Given the description of an element on the screen output the (x, y) to click on. 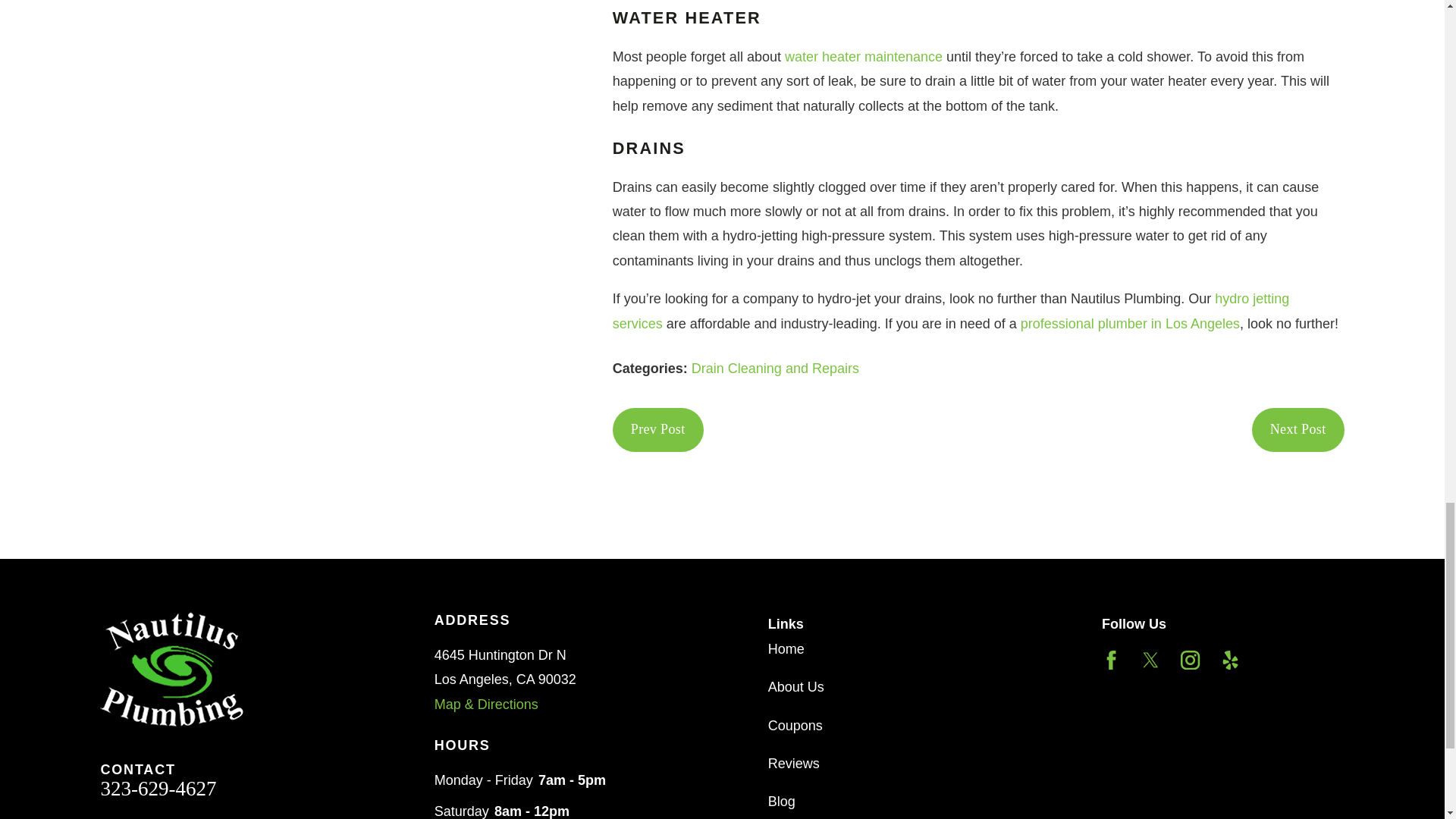
Instagram (1189, 659)
Twitter (1150, 659)
Facebook (1111, 659)
Home (221, 669)
Nautilus Plumbing (171, 669)
